Given the description of an element on the screen output the (x, y) to click on. 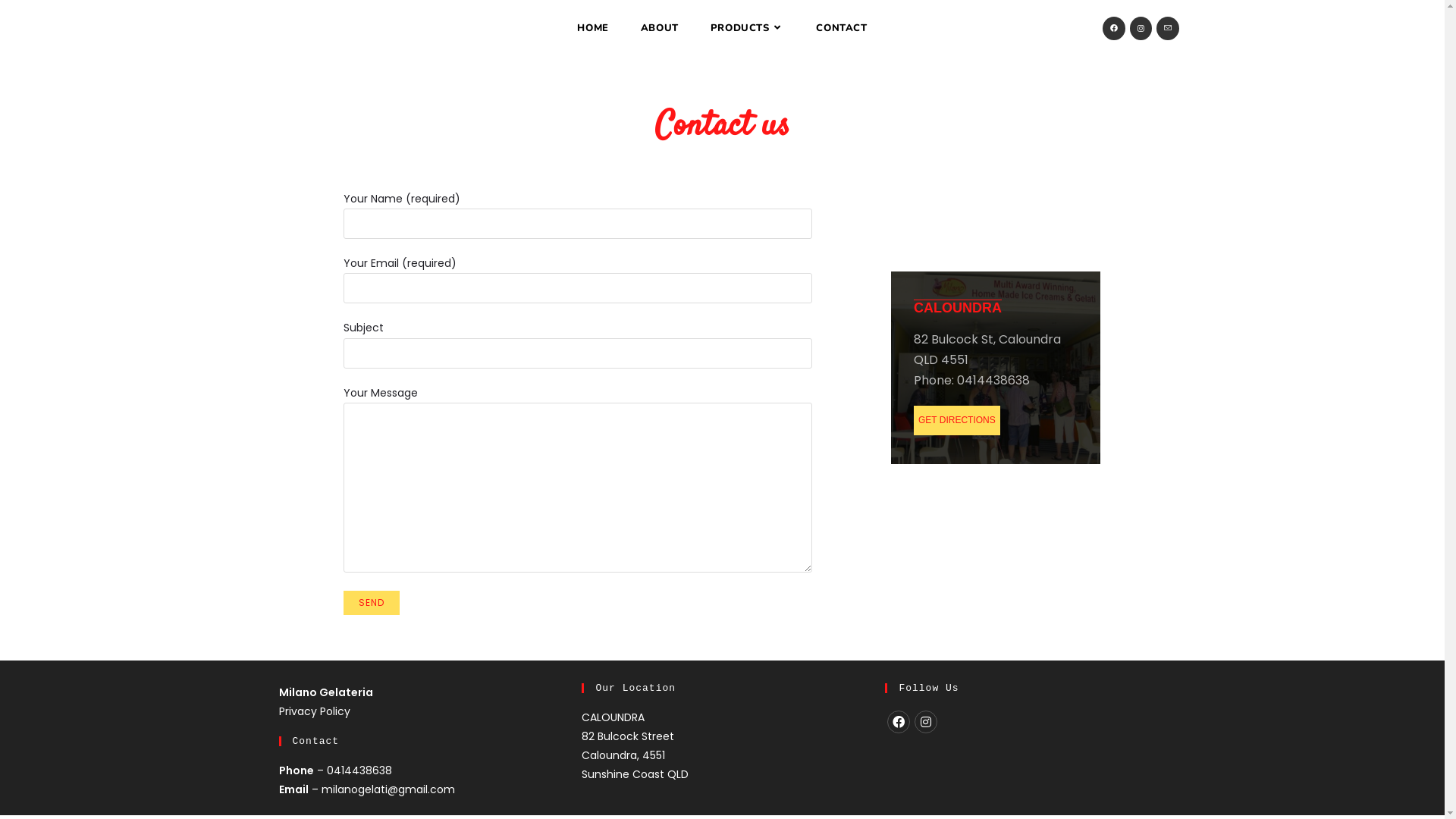
GET DIRECTIONS Element type: text (956, 420)
milanogelati@gmail.com Element type: text (388, 789)
Send Element type: text (370, 602)
PRODUCTS Element type: text (747, 28)
HOME Element type: text (592, 28)
Privacy Policy Element type: text (314, 710)
ABOUT Element type: text (659, 28)
CONTACT Element type: text (841, 28)
